Given the description of an element on the screen output the (x, y) to click on. 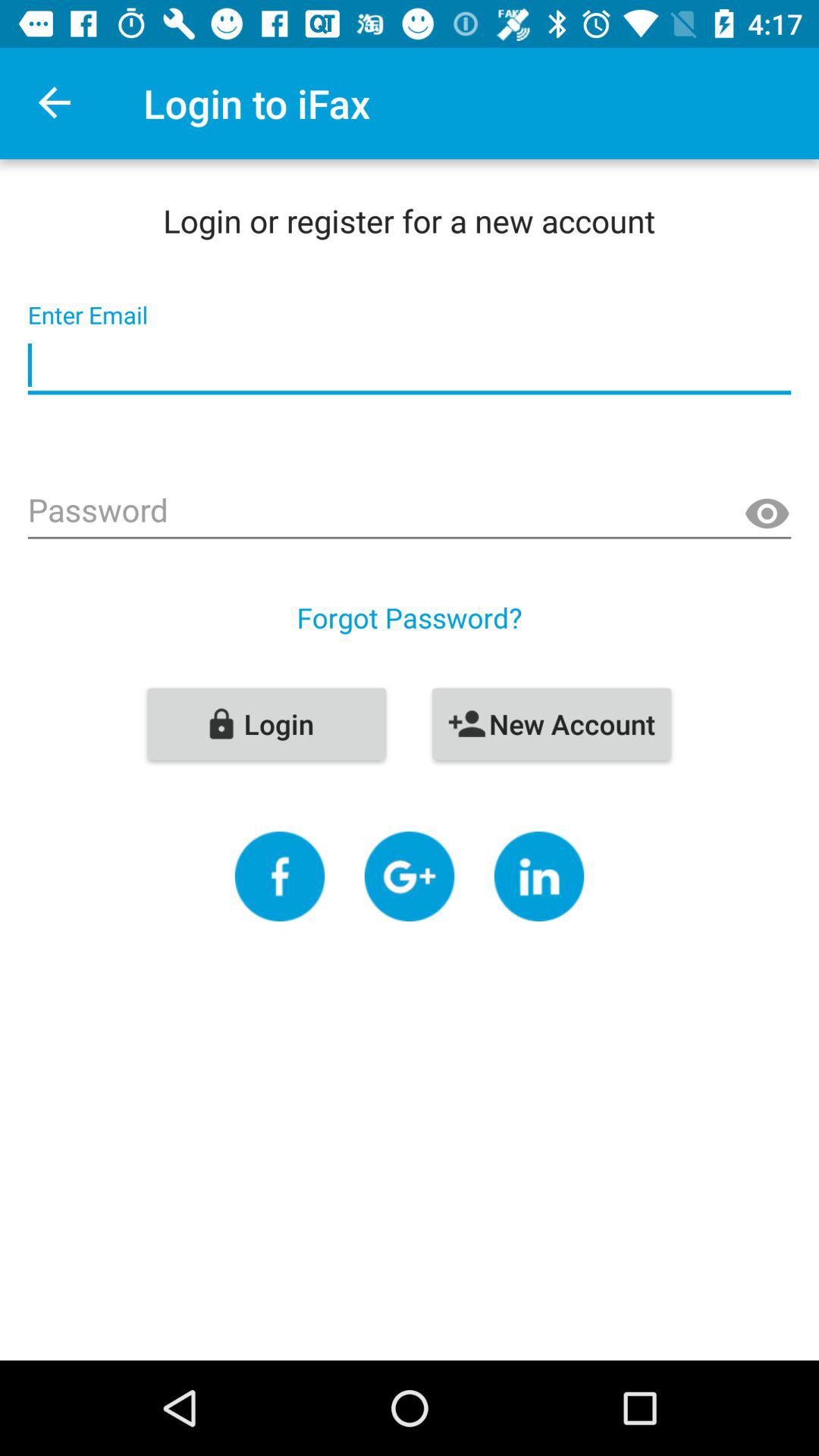
input information (409, 365)
